Given the description of an element on the screen output the (x, y) to click on. 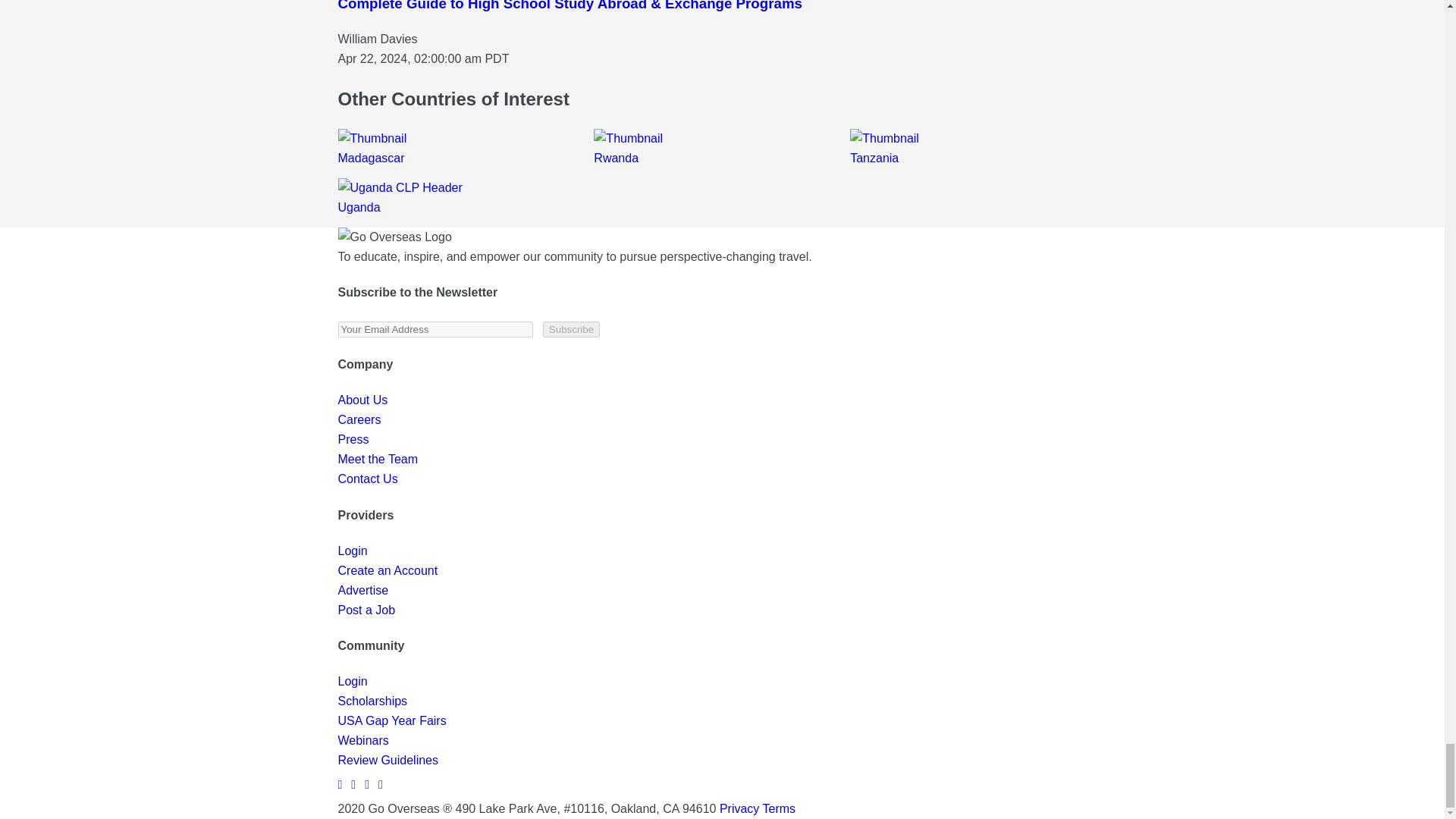
Subscribe (571, 329)
